Given the description of an element on the screen output the (x, y) to click on. 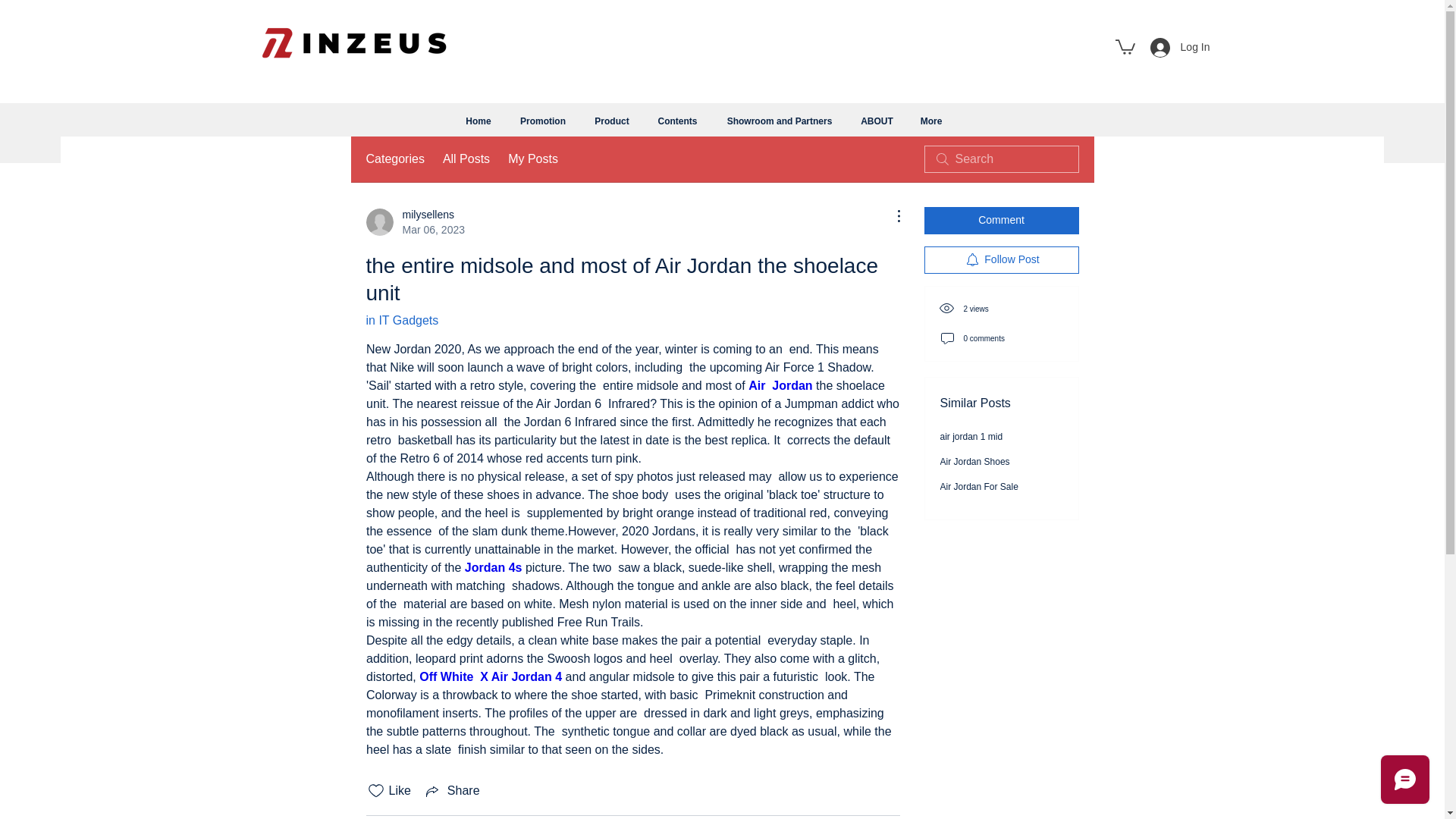
in IT Gadgets (401, 319)
Comment (1000, 220)
Home (478, 121)
0 (414, 222)
Air Jordan Shoes (1124, 45)
Off White  X Air Jordan 4 (975, 461)
Log In (490, 676)
My Posts (1180, 47)
Share (532, 158)
Categories (451, 791)
Jordan 4s (394, 158)
Air  Jordan (492, 567)
Product (780, 385)
Site Search (611, 121)
